Given the description of an element on the screen output the (x, y) to click on. 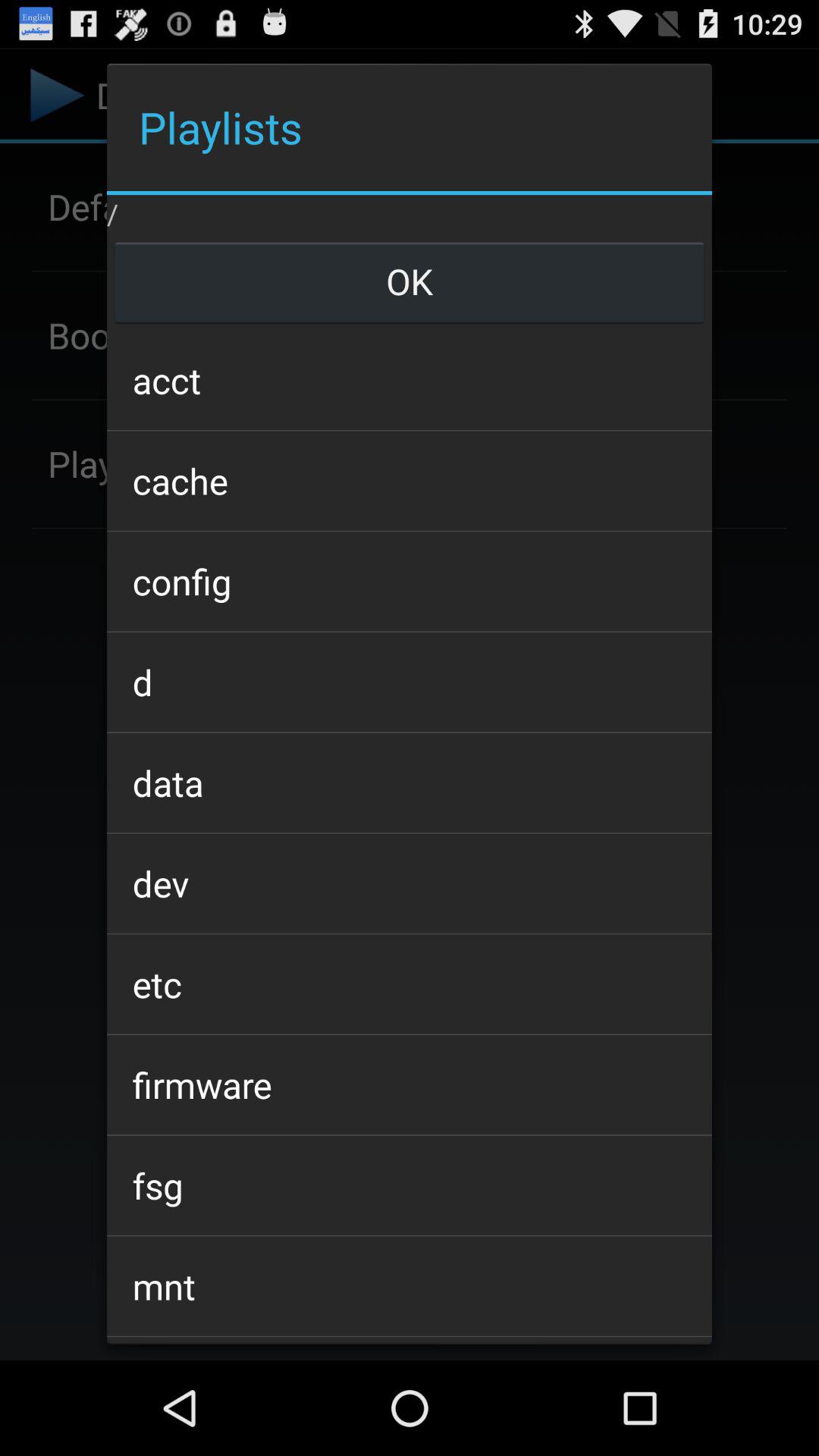
choose app above firmware item (409, 983)
